Given the description of an element on the screen output the (x, y) to click on. 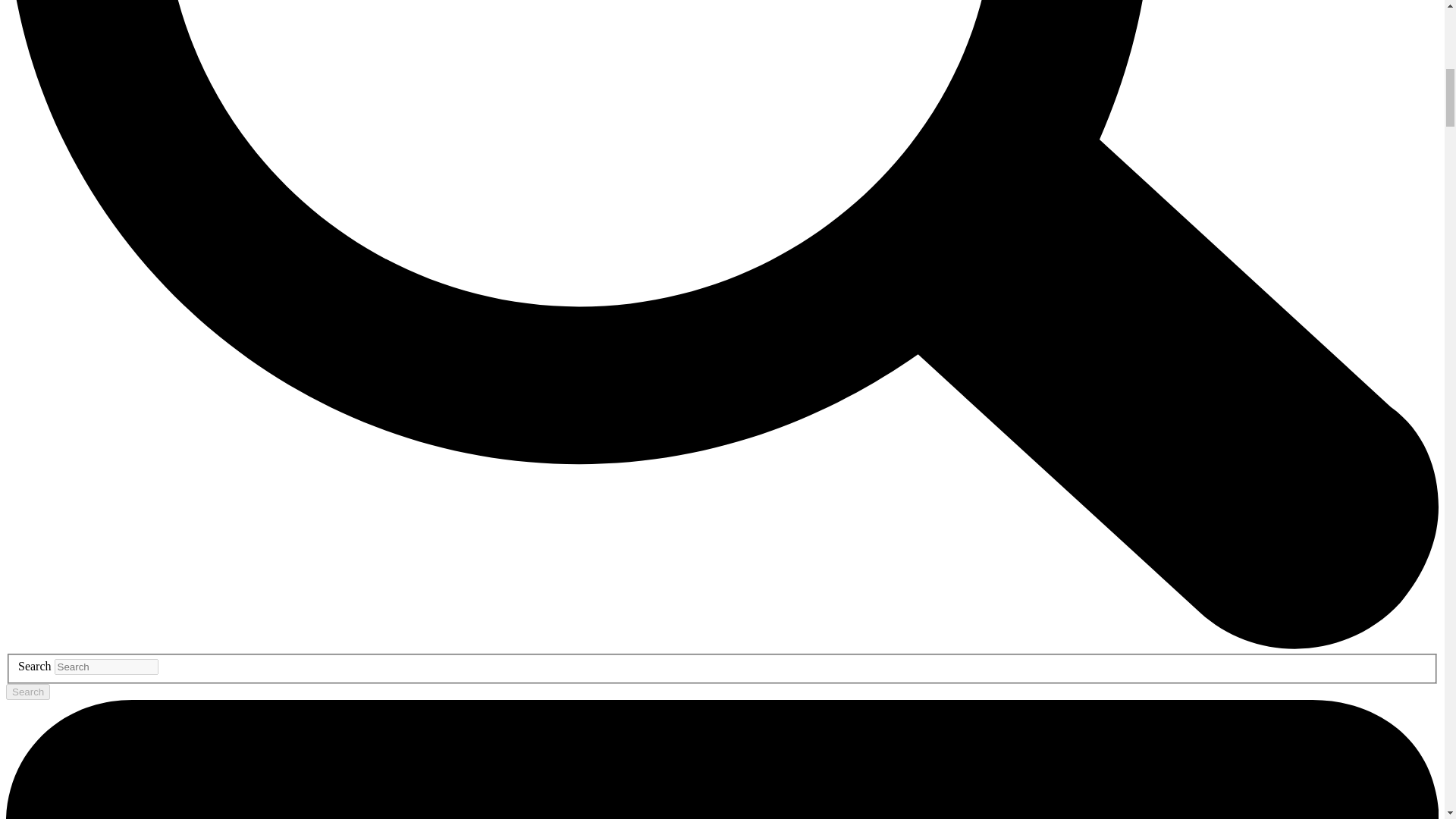
Search (27, 691)
Search (27, 691)
Enter the terms you wish to search for. (106, 666)
